Given the description of an element on the screen output the (x, y) to click on. 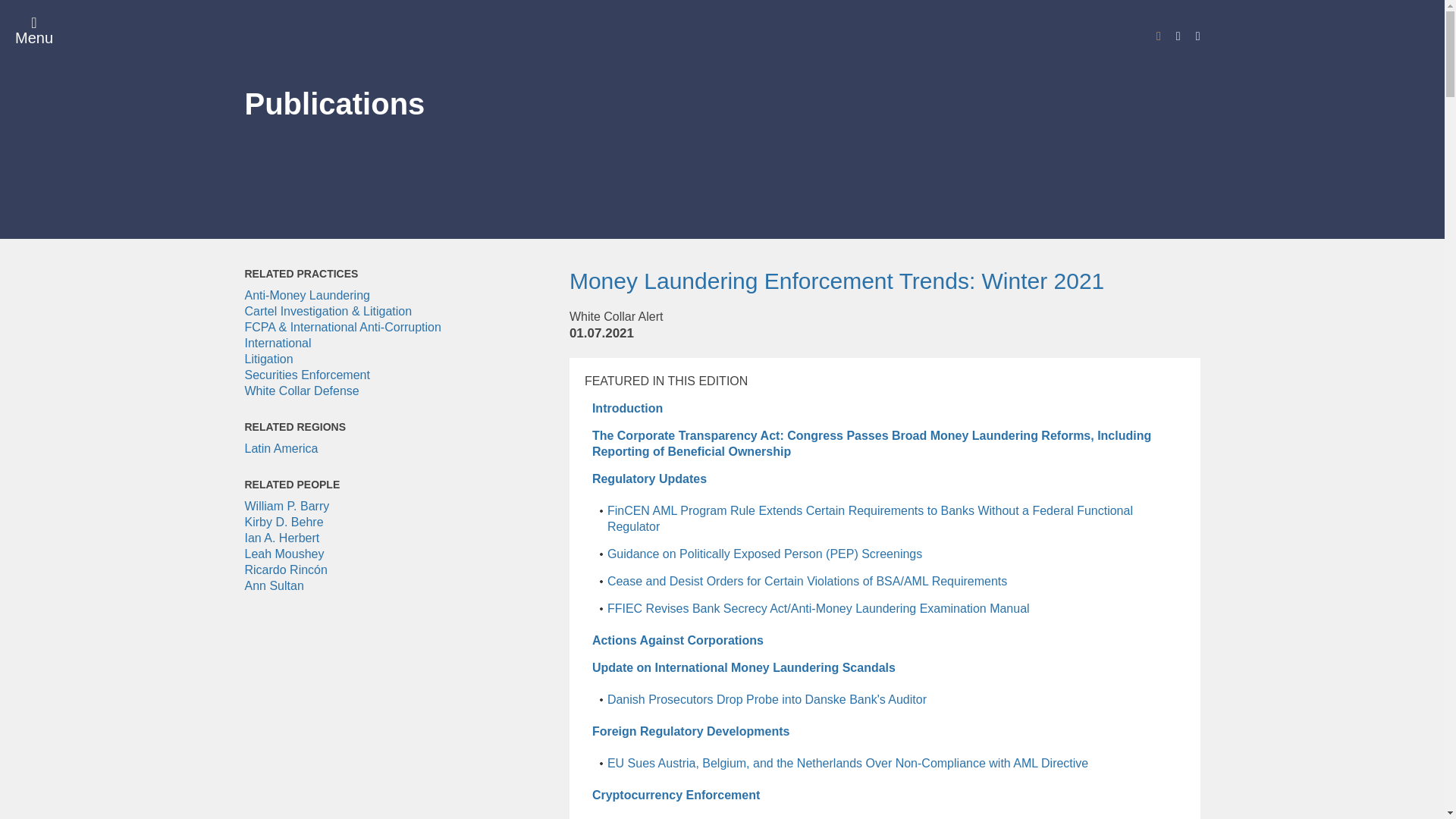
Foreign Regulatory Developments (691, 730)
Cryptocurrency Enforcement (676, 794)
Menu (33, 30)
Actions Against Corporations (677, 640)
Introduction (627, 408)
Update on International Money Laundering Scandals (743, 667)
